Given the description of an element on the screen output the (x, y) to click on. 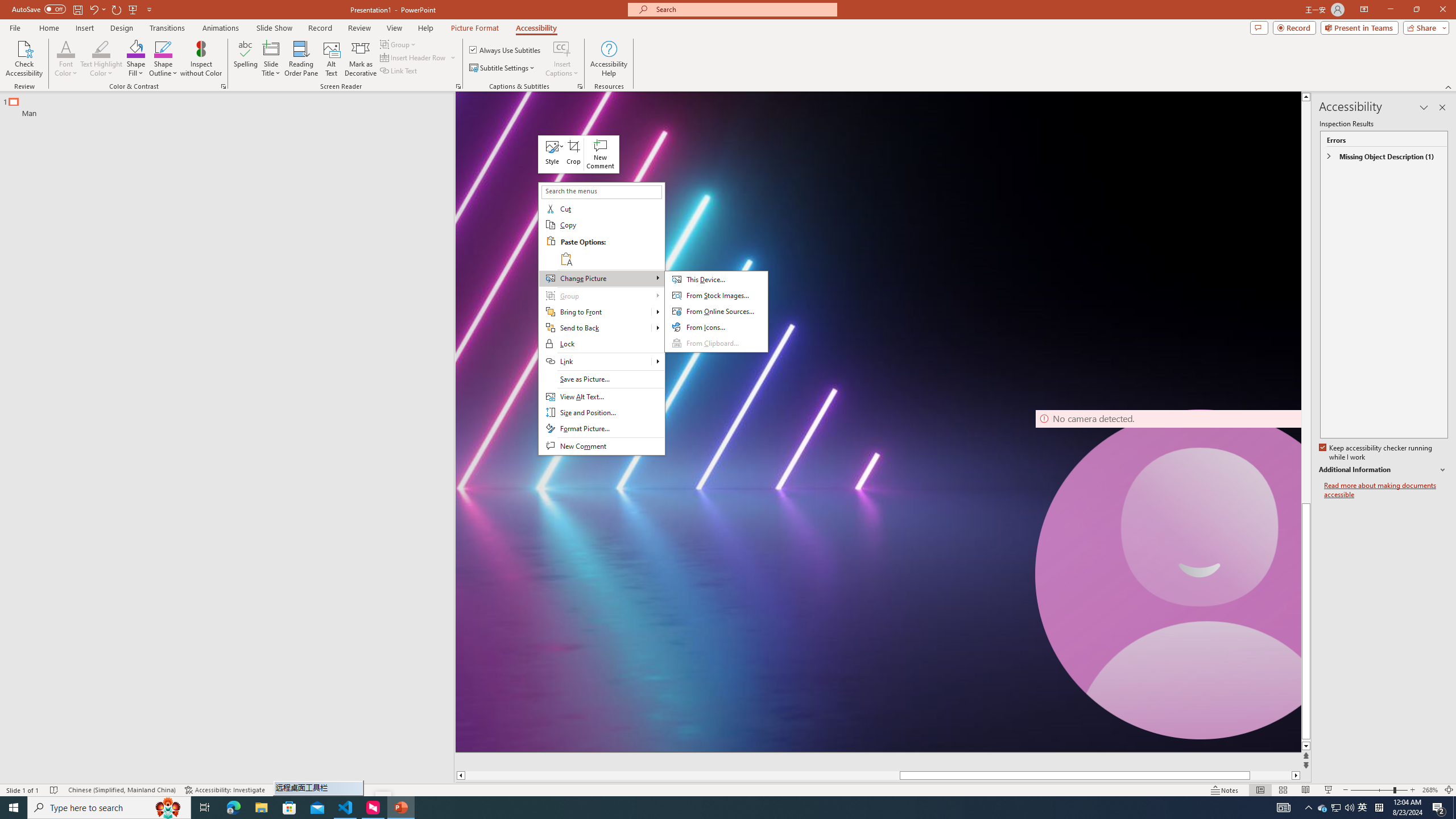
Bring to Front (657, 312)
Class: NetUITWMenuContainer (600, 318)
Accessibility Help (608, 58)
Inspect without Color (201, 58)
